Given the description of an element on the screen output the (x, y) to click on. 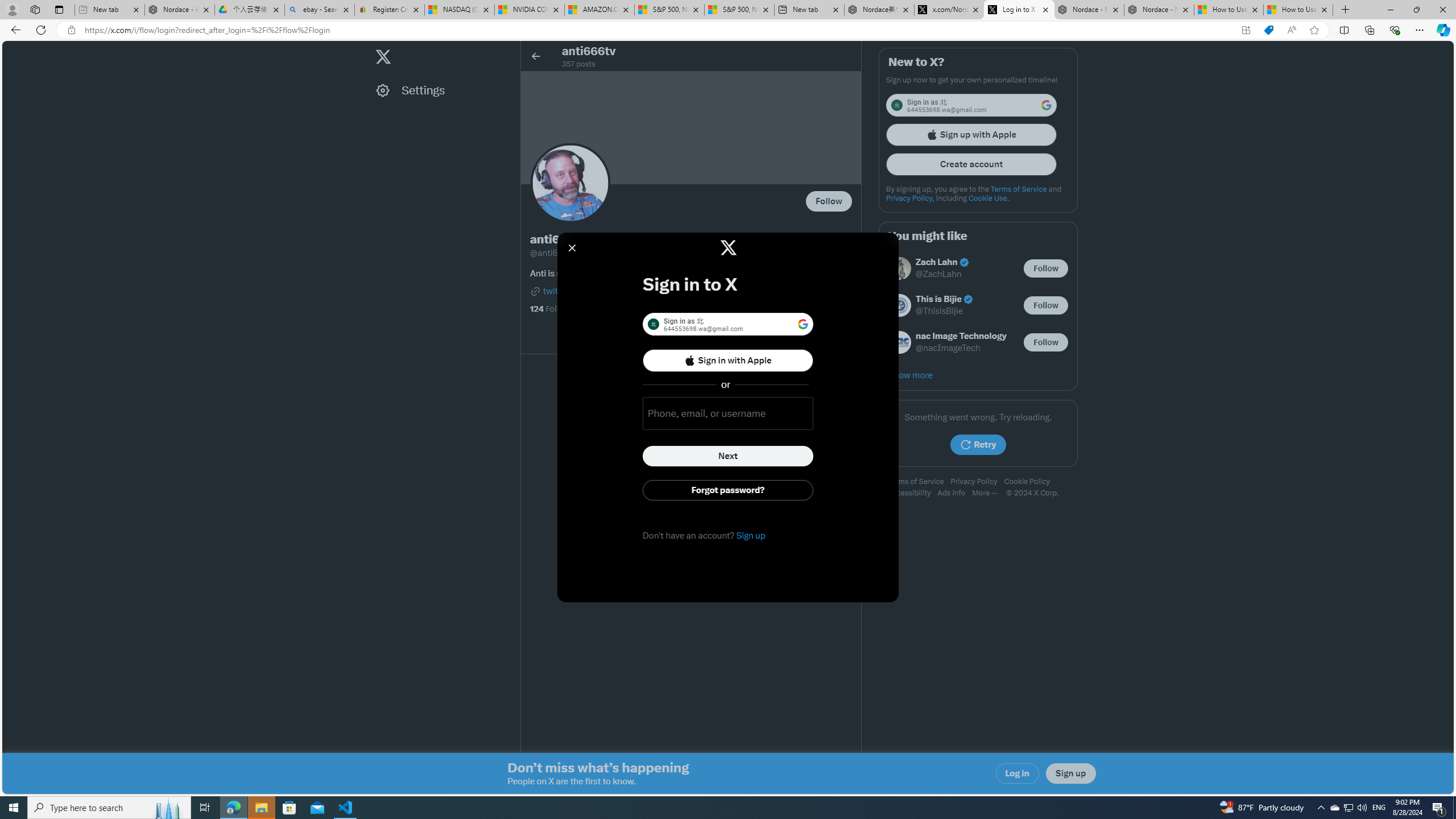
New tab (809, 9)
Minimize (1390, 9)
New Tab (1346, 9)
Address and search bar (658, 29)
App available. Install X (1245, 29)
Collections (1369, 29)
Sign up (1070, 773)
Tab actions menu (58, 9)
New tab - Sleeping (109, 9)
